Given the description of an element on the screen output the (x, y) to click on. 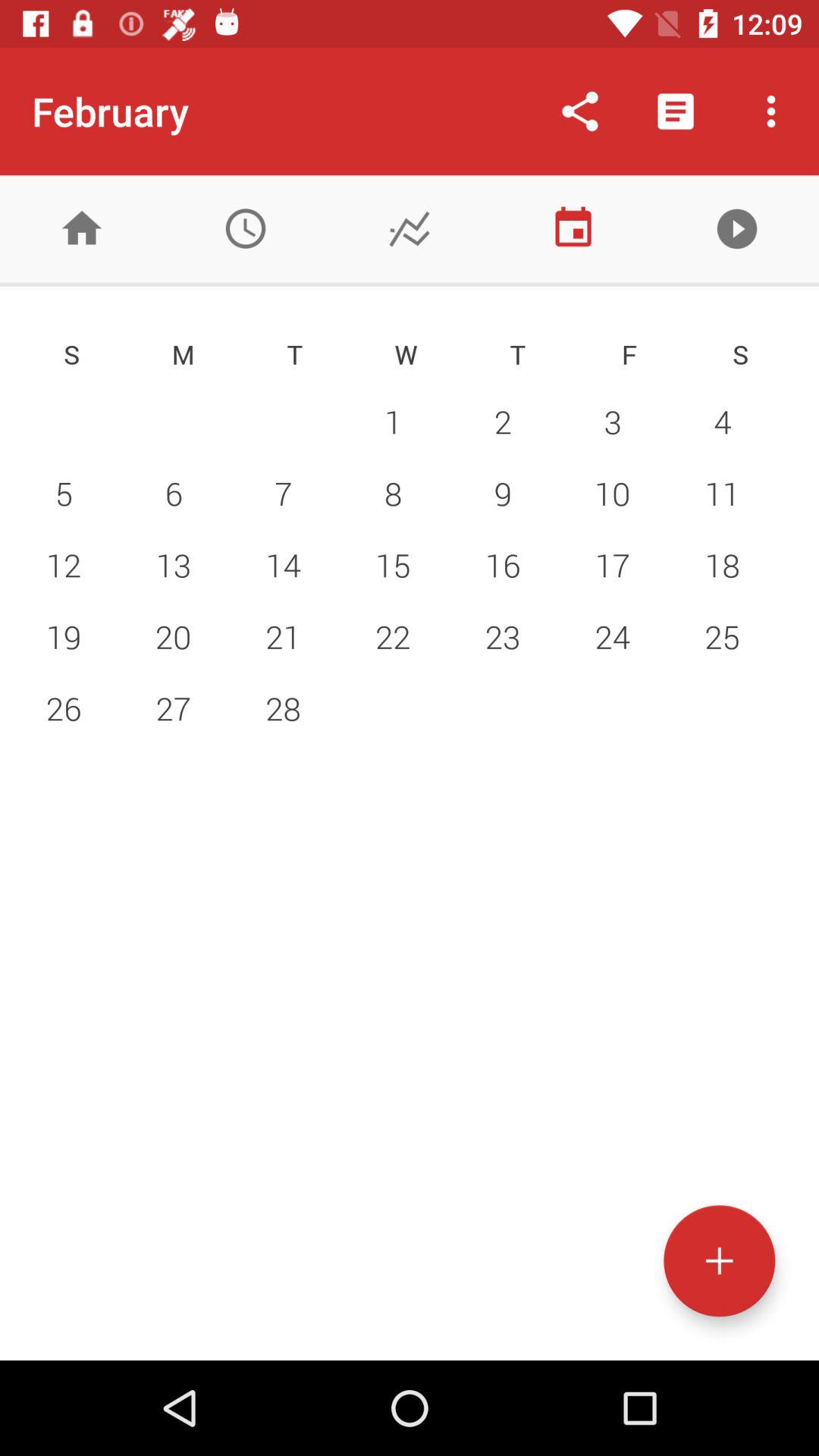
switch autoplay option (737, 228)
